Given the description of an element on the screen output the (x, y) to click on. 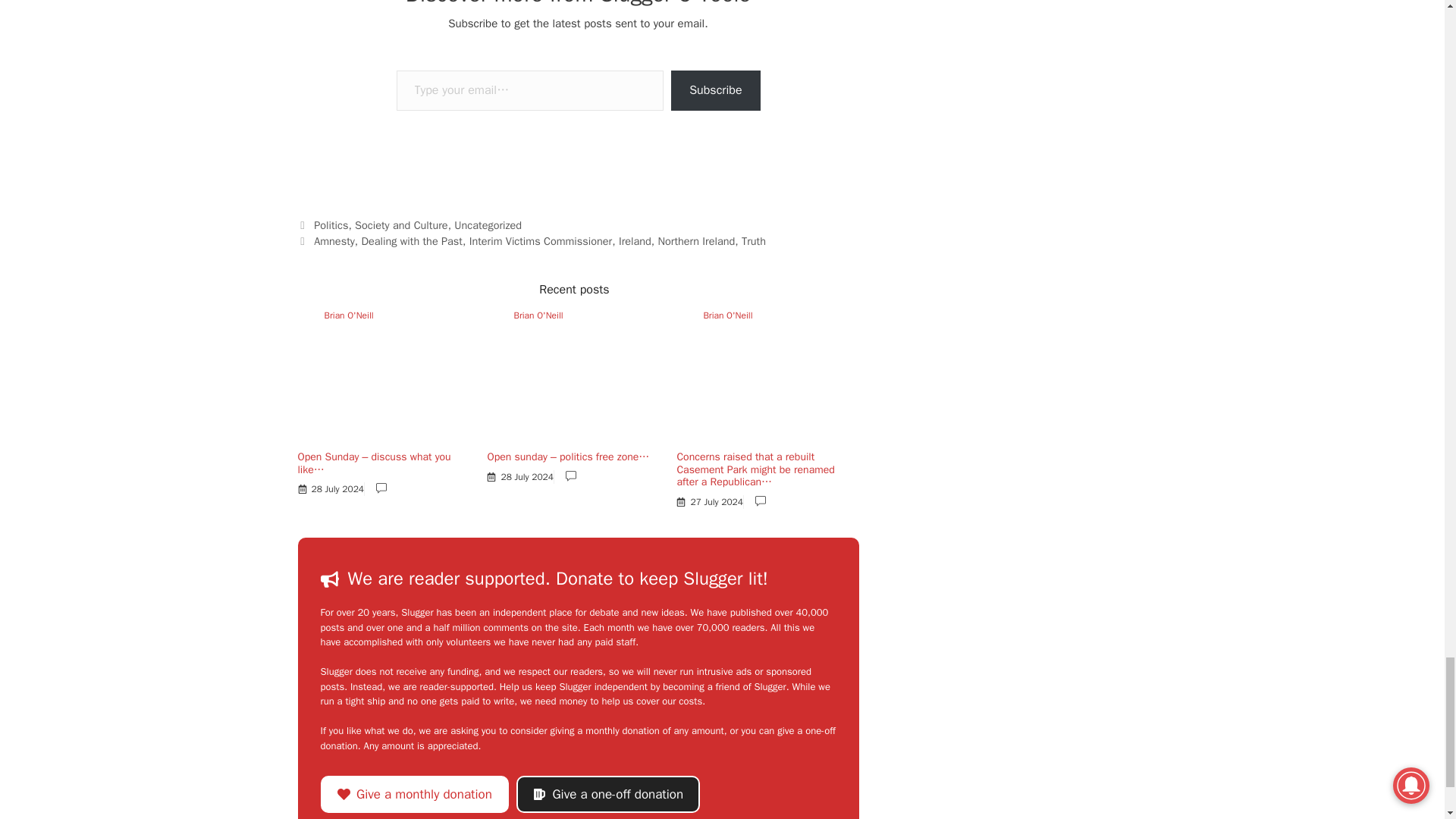
Please fill in this field. (529, 90)
